Given the description of an element on the screen output the (x, y) to click on. 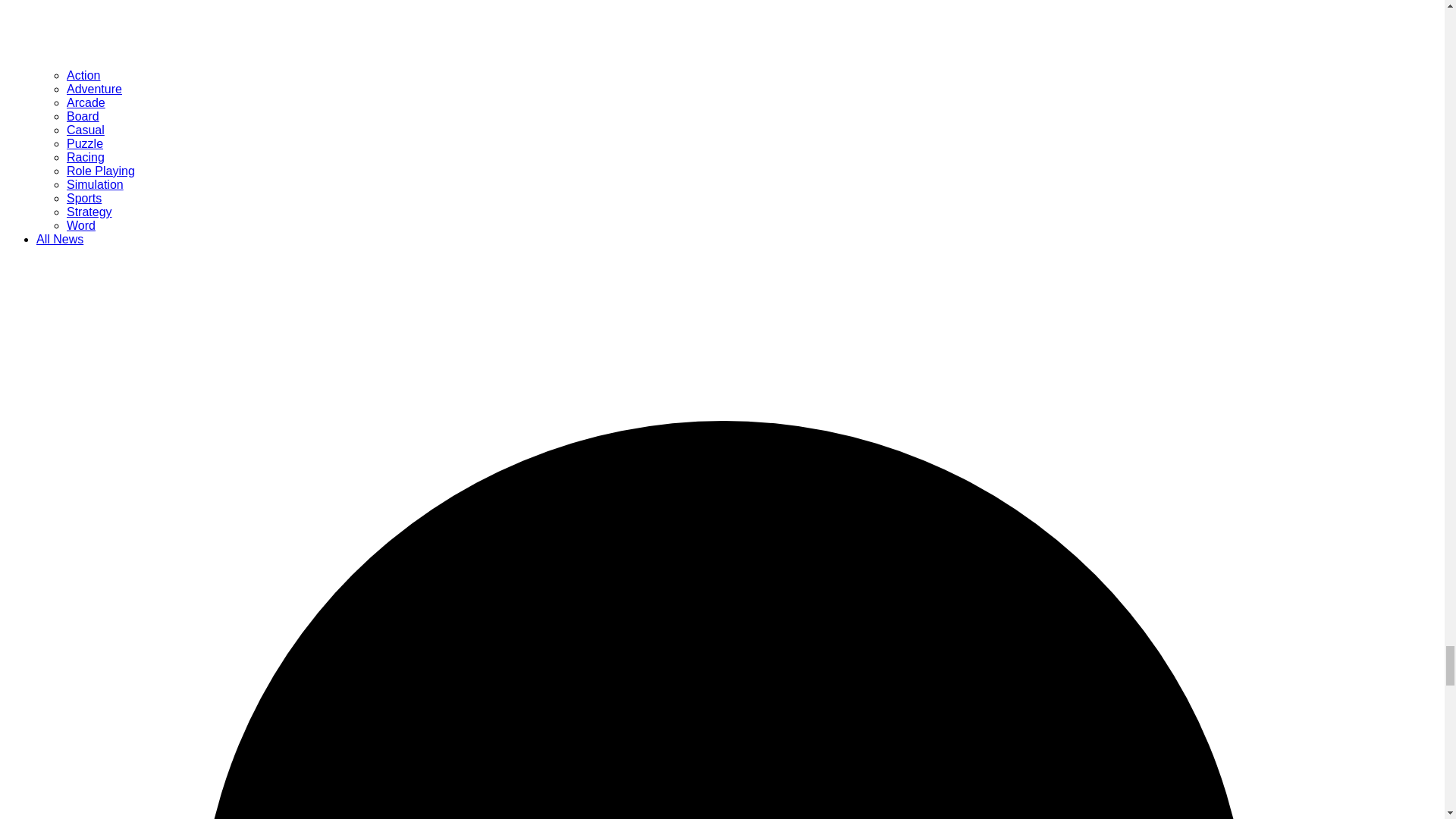
Board (82, 115)
Arcade (85, 102)
Casual (85, 129)
Action (83, 74)
Adventure (94, 88)
Puzzle (84, 143)
